Given the description of an element on the screen output the (x, y) to click on. 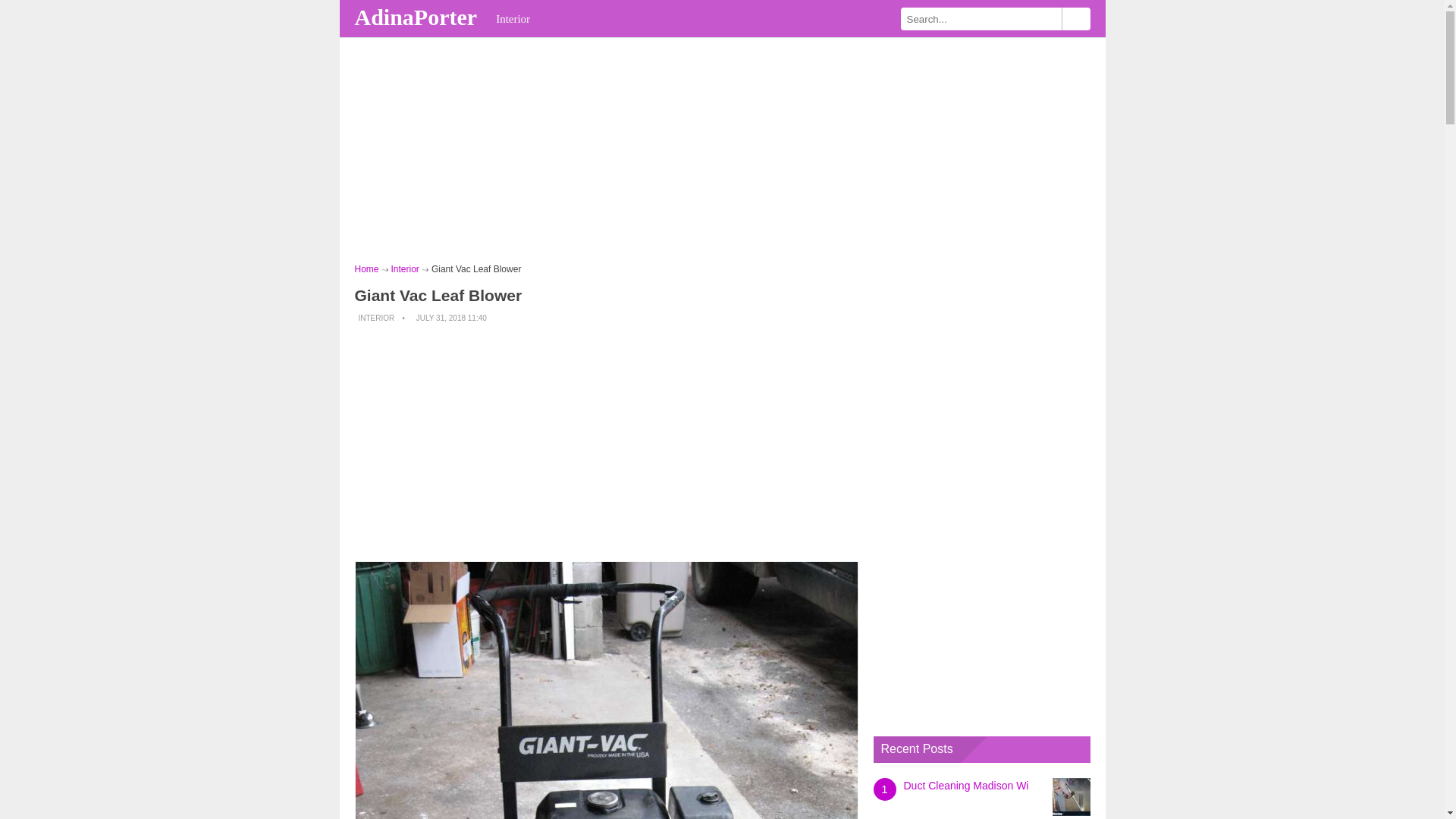
Duct Cleaning Madison Wi (966, 785)
INTERIOR (376, 317)
Interior (512, 18)
Advertisement (607, 443)
Home (366, 268)
Interior (405, 268)
Search (1075, 18)
AdinaPorter (418, 16)
